Given the description of an element on the screen output the (x, y) to click on. 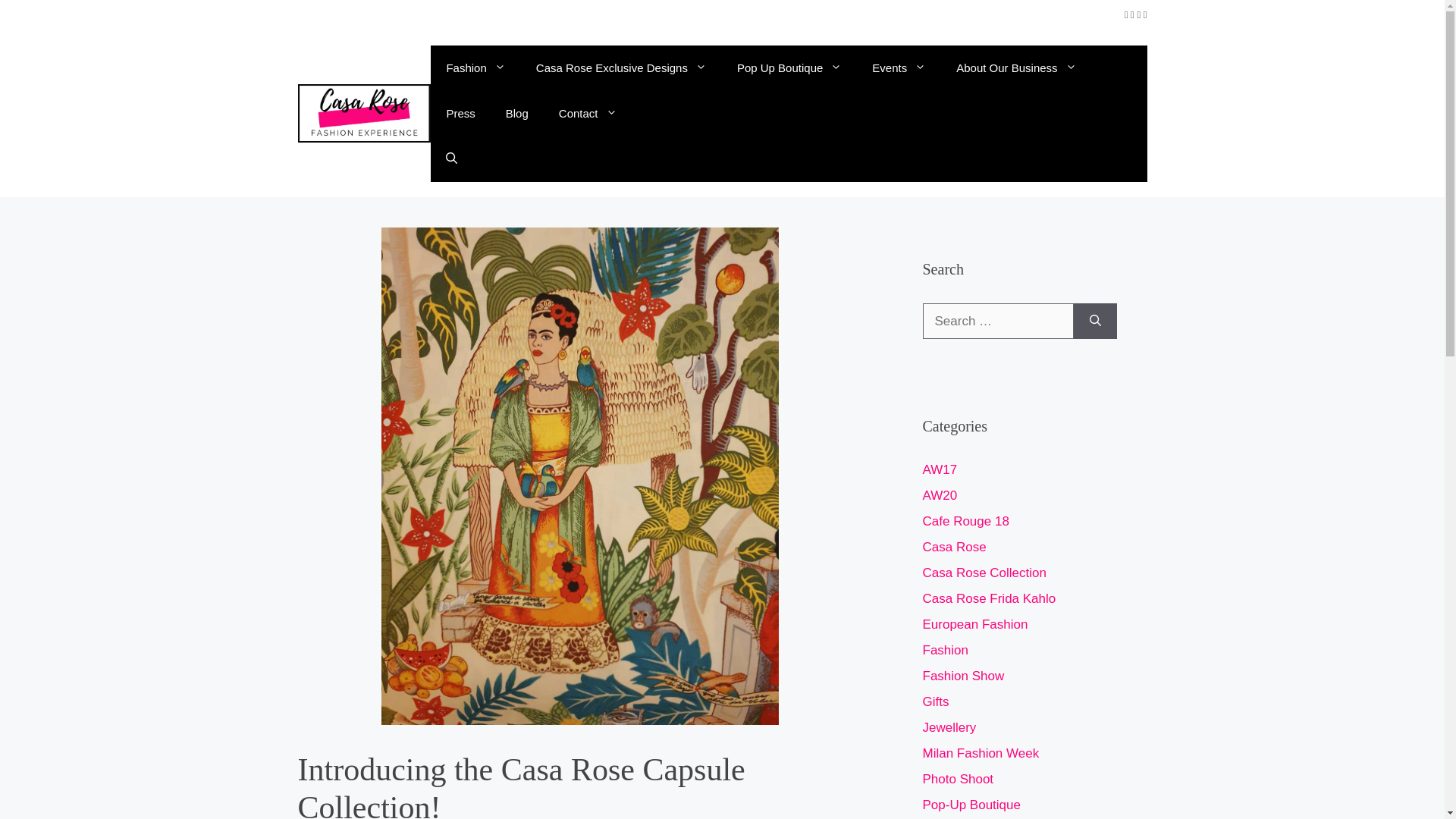
Press (459, 113)
Search for: (997, 321)
Casa Rose Exclusive Designs (621, 67)
Contact (587, 113)
About Our Business (1015, 67)
Pop Up Boutique (789, 67)
Events (898, 67)
Blog (516, 113)
Fashion (474, 67)
